Given the description of an element on the screen output the (x, y) to click on. 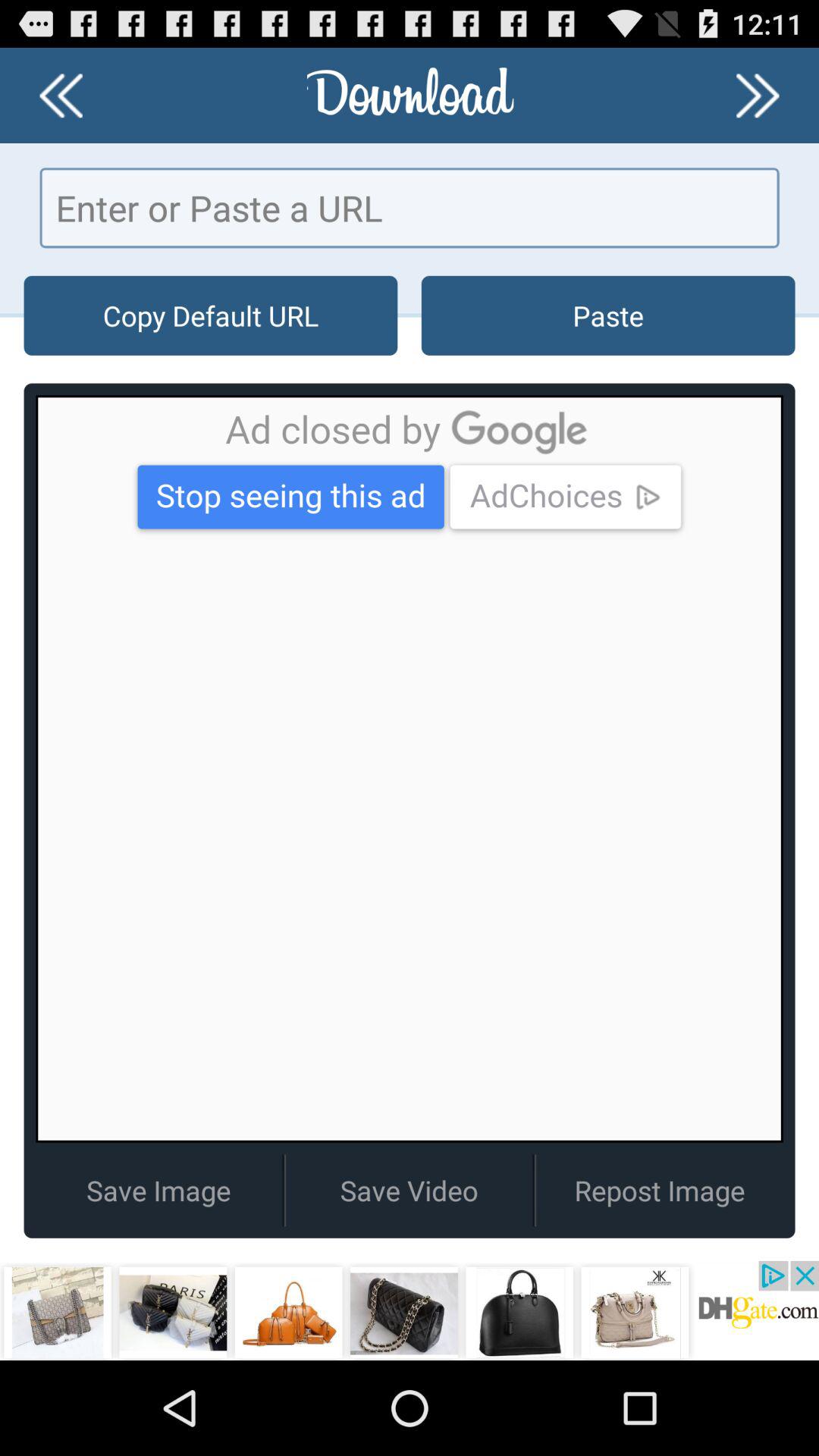
go to previous button (61, 95)
